Given the description of an element on the screen output the (x, y) to click on. 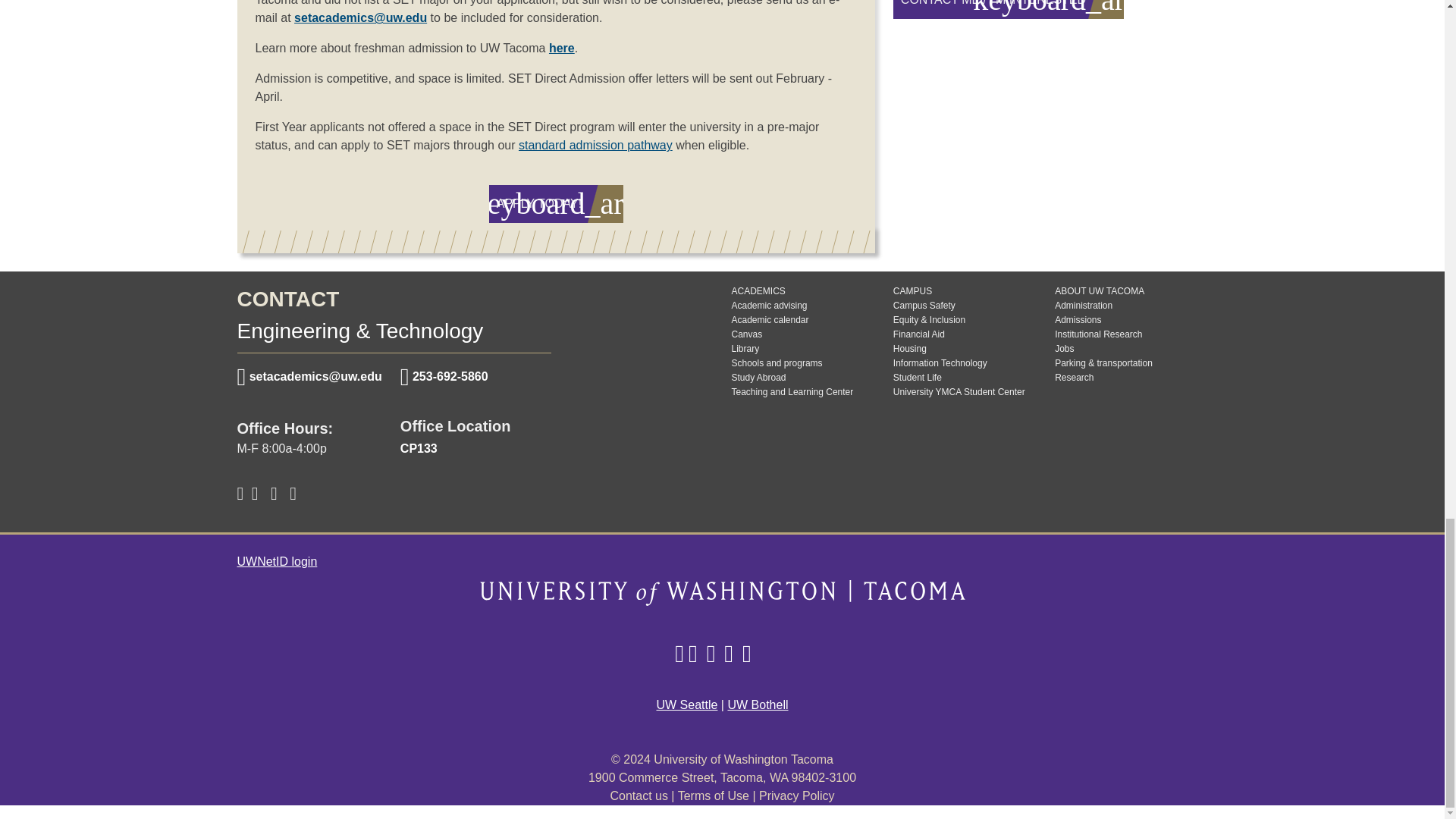
Follow UW Tacoma on Instagram (711, 653)
Follow UW Tacoma on Twitter (692, 653)
Follow UW Tacoma on Facebook (679, 653)
Follow UW Tacoma on Youtube (728, 653)
UW Tacoma Wordmark (721, 594)
Follow UW Tacoma on Linkedin (746, 653)
